Given the description of an element on the screen output the (x, y) to click on. 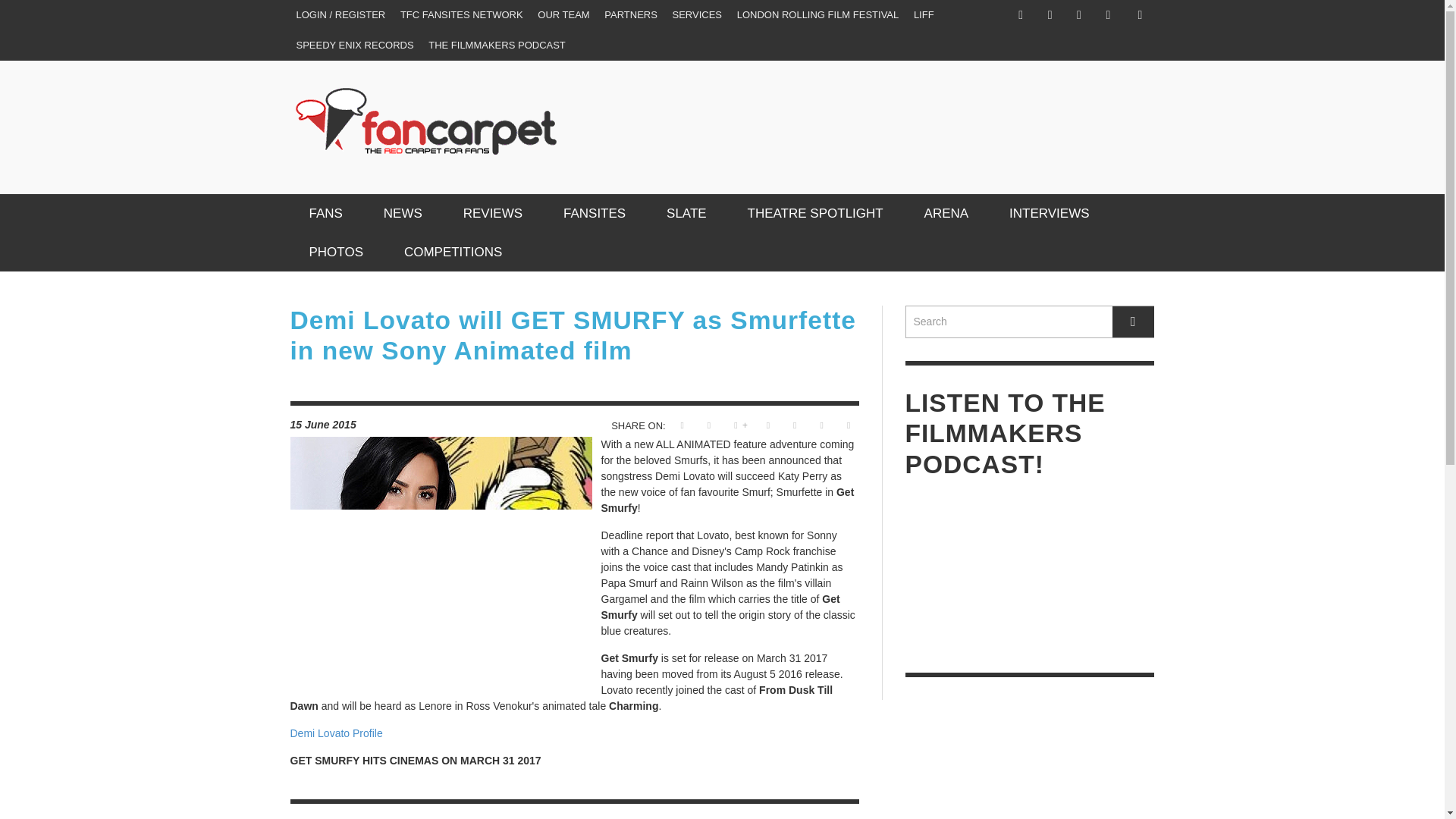
Facebook (1020, 15)
Search (1029, 321)
OUR TEAM (563, 15)
Youtube (1107, 15)
PARTNERS (630, 15)
LIFF (923, 15)
TFC FANSITES NETWORK (461, 15)
THE FILMMAKERS PODCAST (497, 45)
SERVICES (697, 15)
SPEEDY ENIX RECORDS (354, 45)
